Given the description of an element on the screen output the (x, y) to click on. 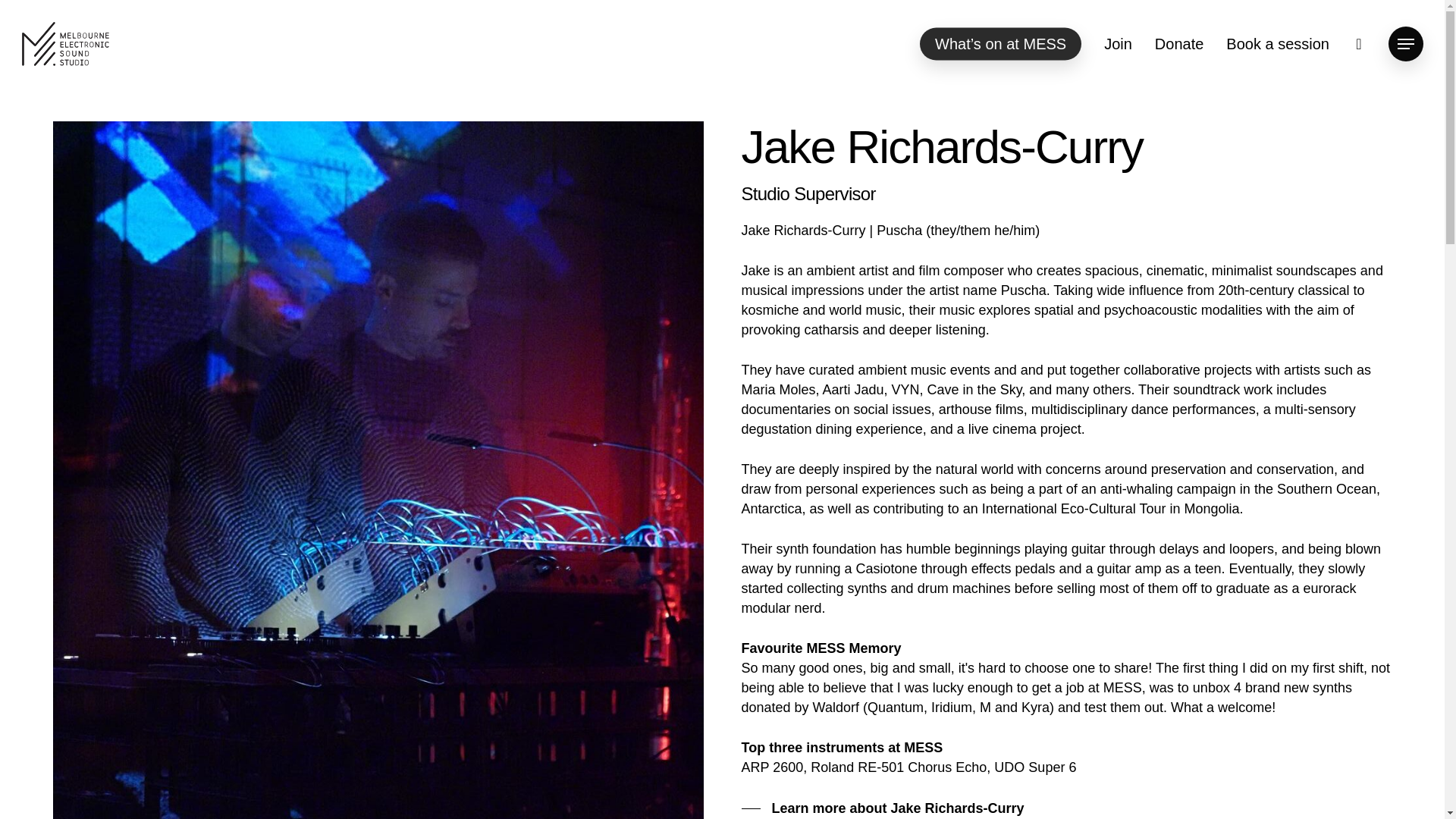
Menu (1406, 44)
Join (1117, 43)
Donate (1179, 43)
Book a session (1277, 43)
